Given the description of an element on the screen output the (x, y) to click on. 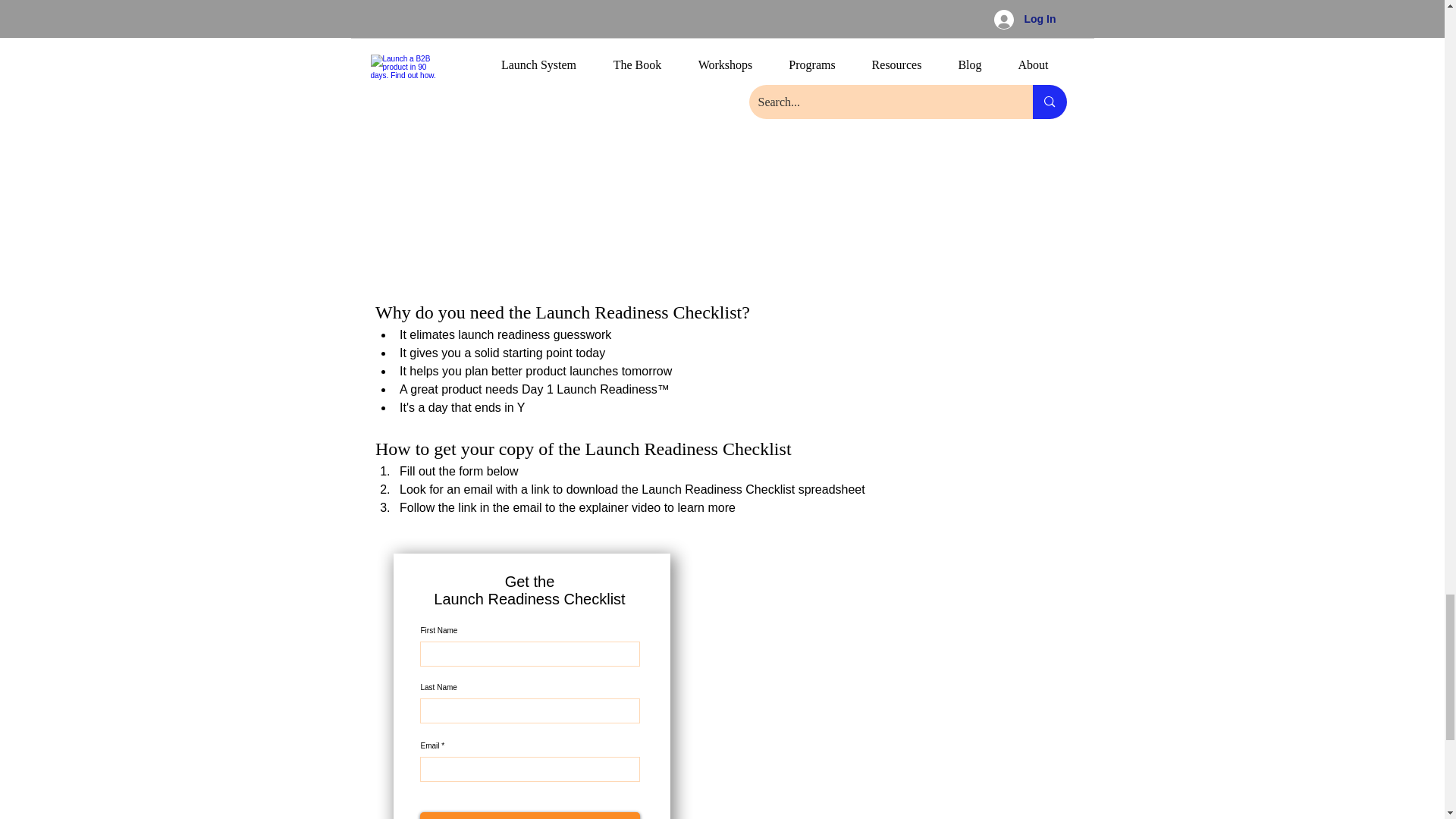
Get the checklist (530, 815)
